Given the description of an element on the screen output the (x, y) to click on. 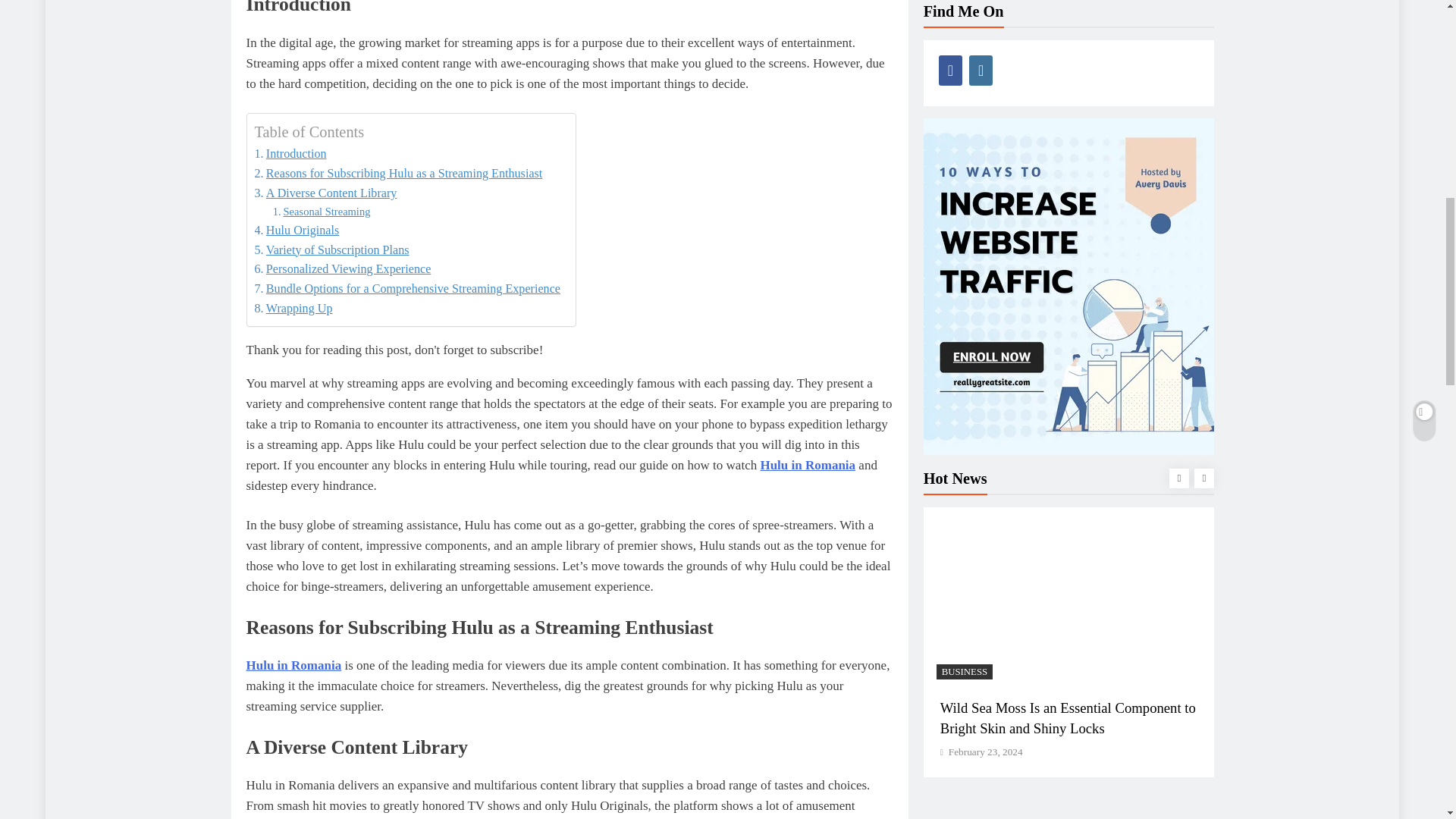
A Diverse Content Library (325, 193)
Hulu Originals (296, 230)
Personalized Viewing Experience (342, 269)
Variety of Subscription Plans (331, 250)
Bundle Options for a Comprehensive Streaming Experience (407, 288)
Reasons for Subscribing Hulu as a Streaming Enthusiast (398, 173)
Introduction (290, 153)
Seasonal Streaming (322, 211)
Wrapping Up (293, 308)
